Given the description of an element on the screen output the (x, y) to click on. 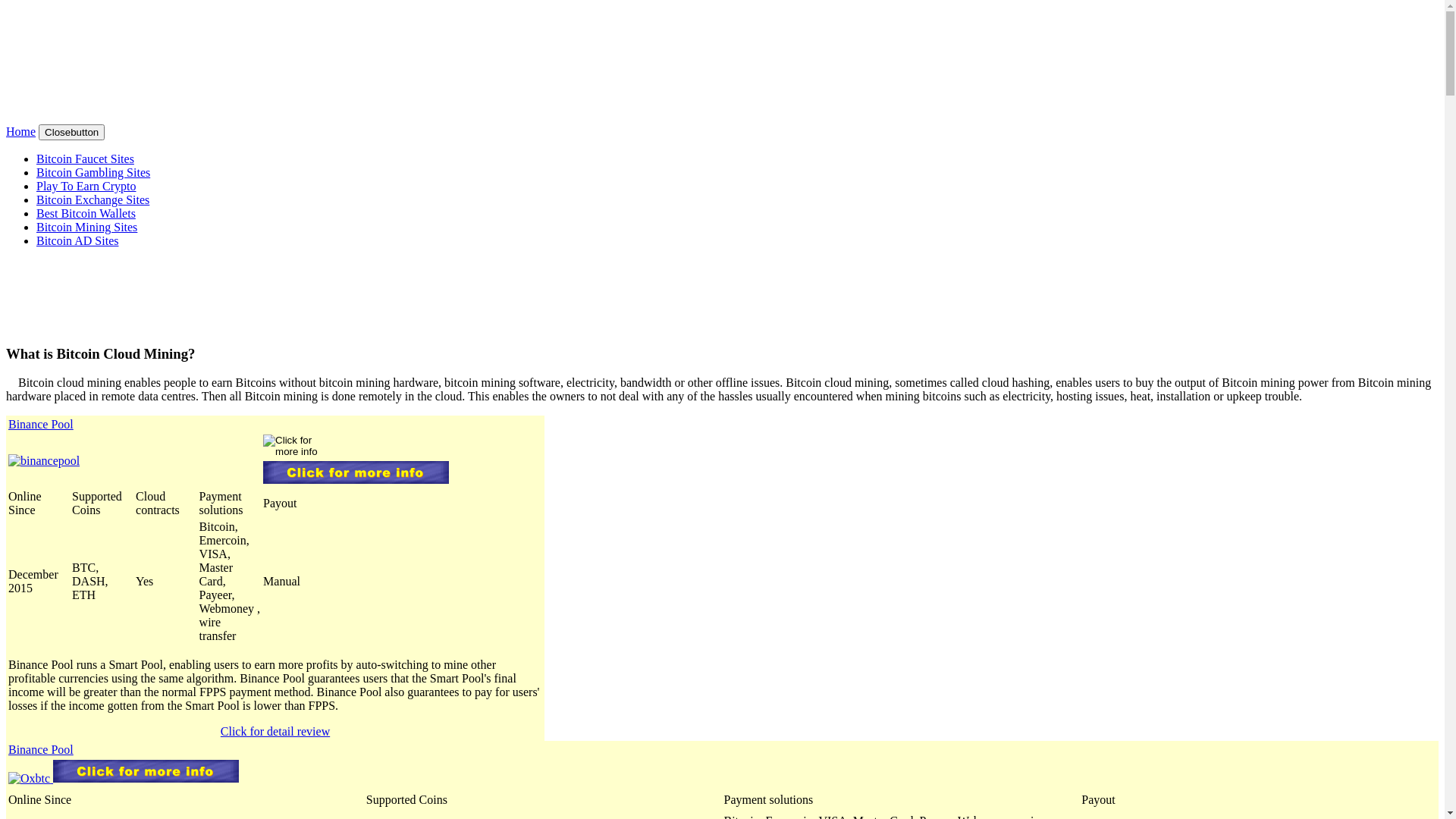
Home Element type: text (20, 131)
Bitcoin Gambling Sites Element type: text (93, 172)
Closebutton Element type: text (71, 132)
Bitcoin Exchange Sites Element type: text (92, 199)
Bitcoin Mining Sites Element type: text (86, 226)
Play To Earn Crypto Element type: text (85, 185)
Bitcoin AD Sites Element type: text (77, 240)
Click for detail review Element type: text (274, 730)
Binance Pool Element type: text (40, 423)
Bitcoin Faucet Sites Element type: text (85, 158)
Binance Pool Element type: text (40, 749)
Best Bitcoin Wallets Element type: text (85, 213)
